Given the description of an element on the screen output the (x, y) to click on. 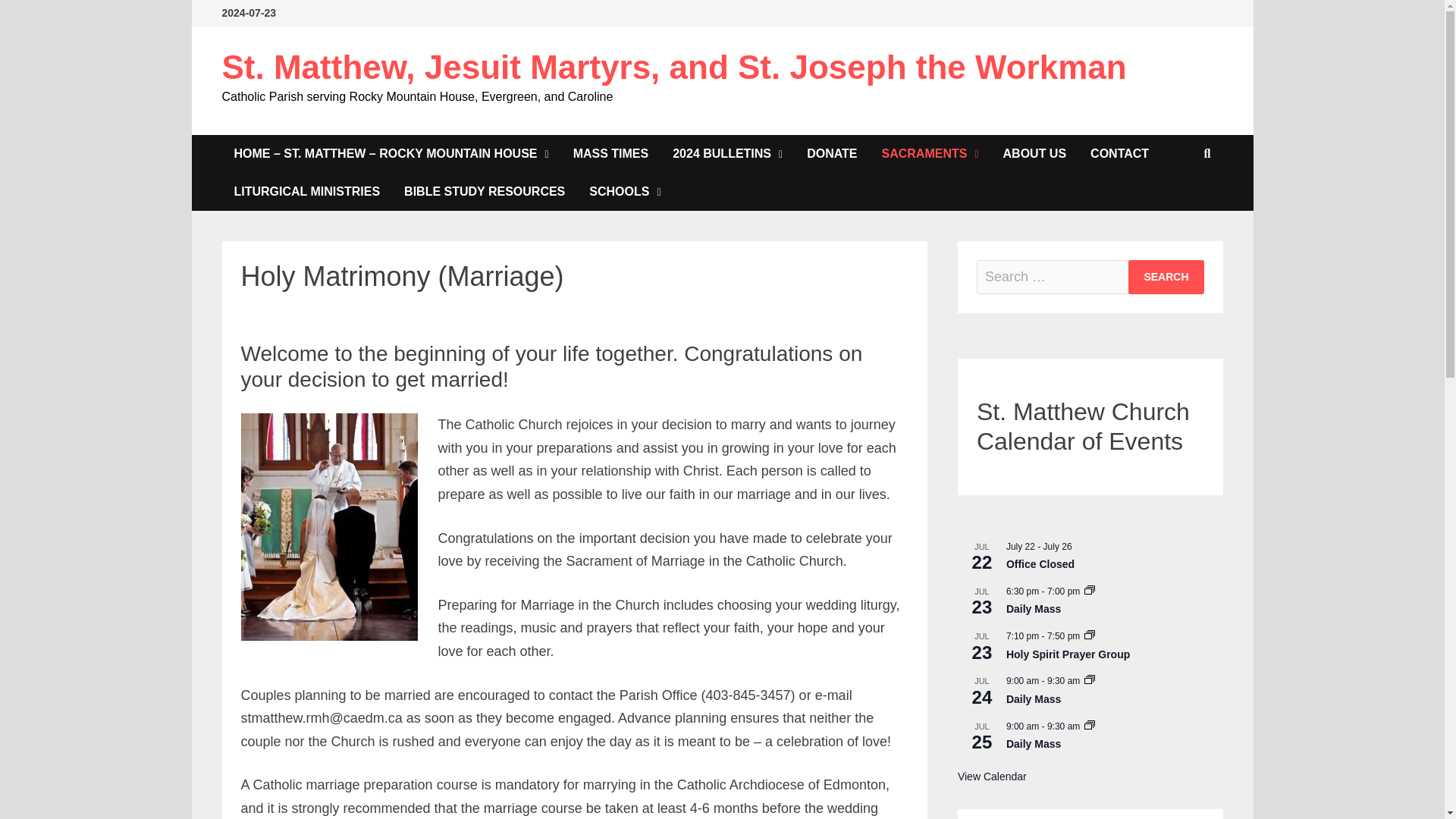
View more events. (992, 776)
SCHOOLS (624, 191)
Search (1166, 277)
Event Series (1089, 678)
BIBLE STUDY RESOURCES (483, 191)
MASS TIMES (610, 153)
Event Series (1089, 726)
LITURGICAL MINISTRIES (306, 191)
Holy Spirit Prayer Group (1067, 654)
2024 BULLETINS (727, 153)
Daily Mass (1033, 698)
Event Series (1089, 680)
St. Matthew, Jesuit Martyrs, and St. Joseph the Workman (673, 66)
Office Closed (1040, 563)
Search (1166, 277)
